Given the description of an element on the screen output the (x, y) to click on. 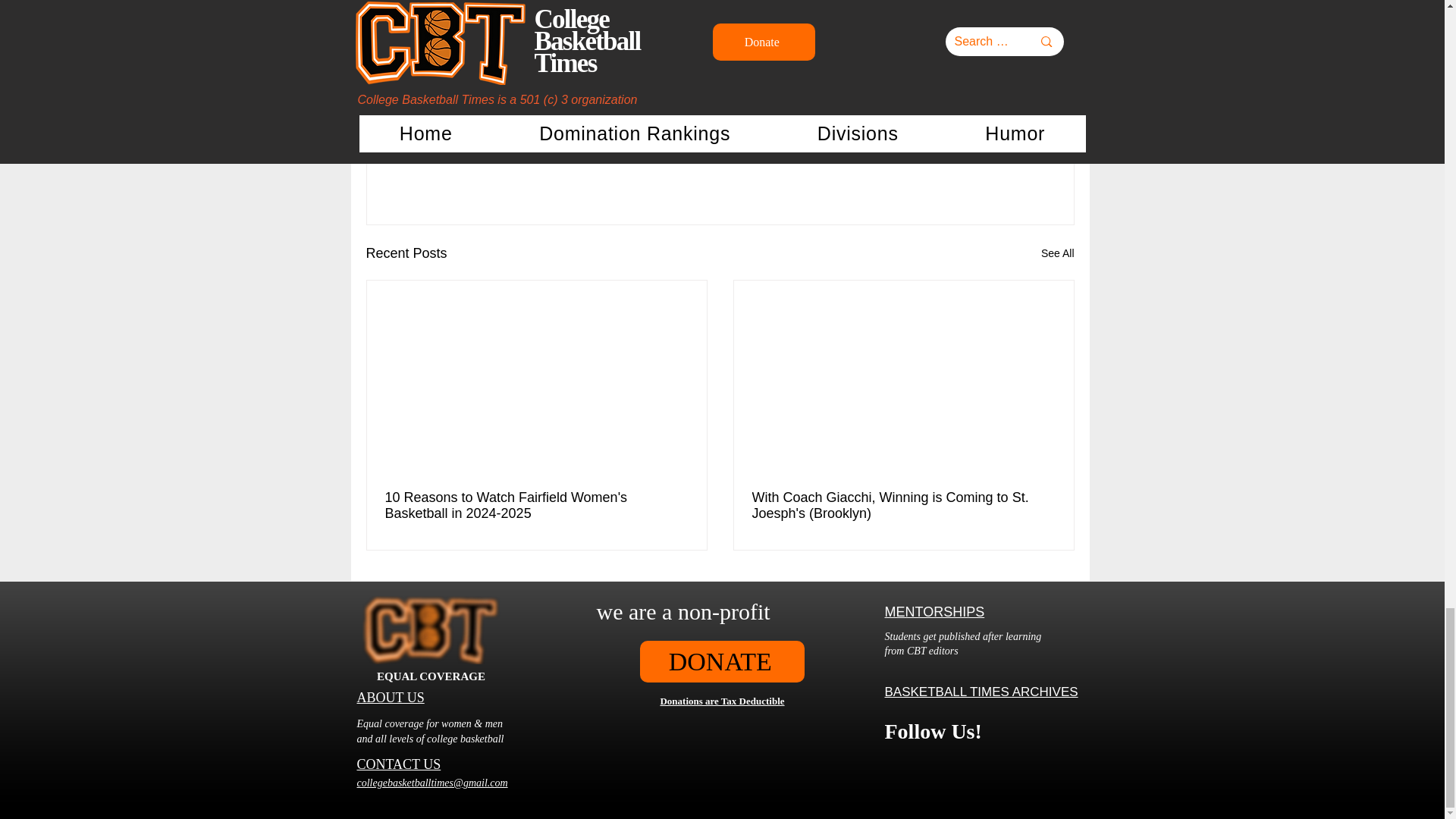
DONATE (722, 661)
ABOUT US (389, 697)
MENTORSHIPS (933, 611)
See All (1057, 253)
CONTACT US (398, 764)
